Given the description of an element on the screen output the (x, y) to click on. 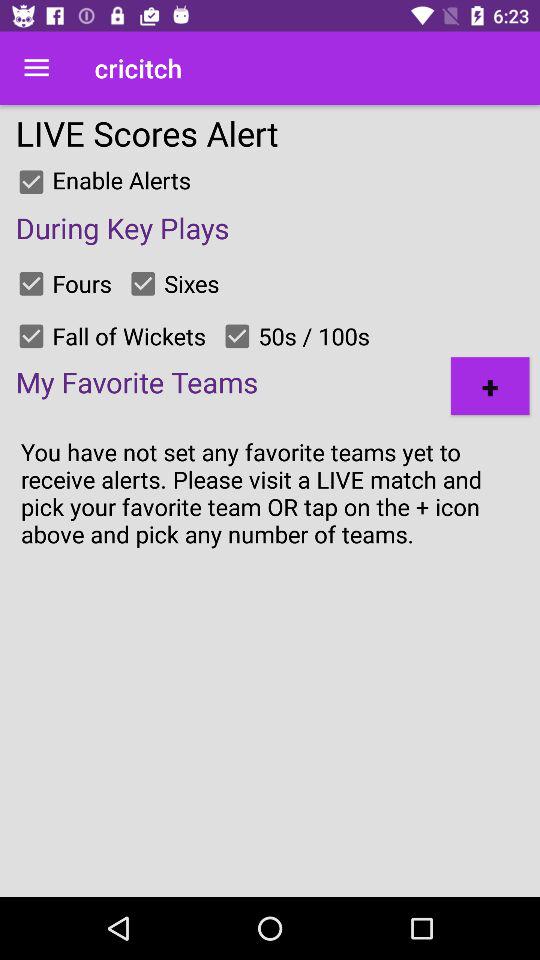
toggle this option (237, 336)
